Given the description of an element on the screen output the (x, y) to click on. 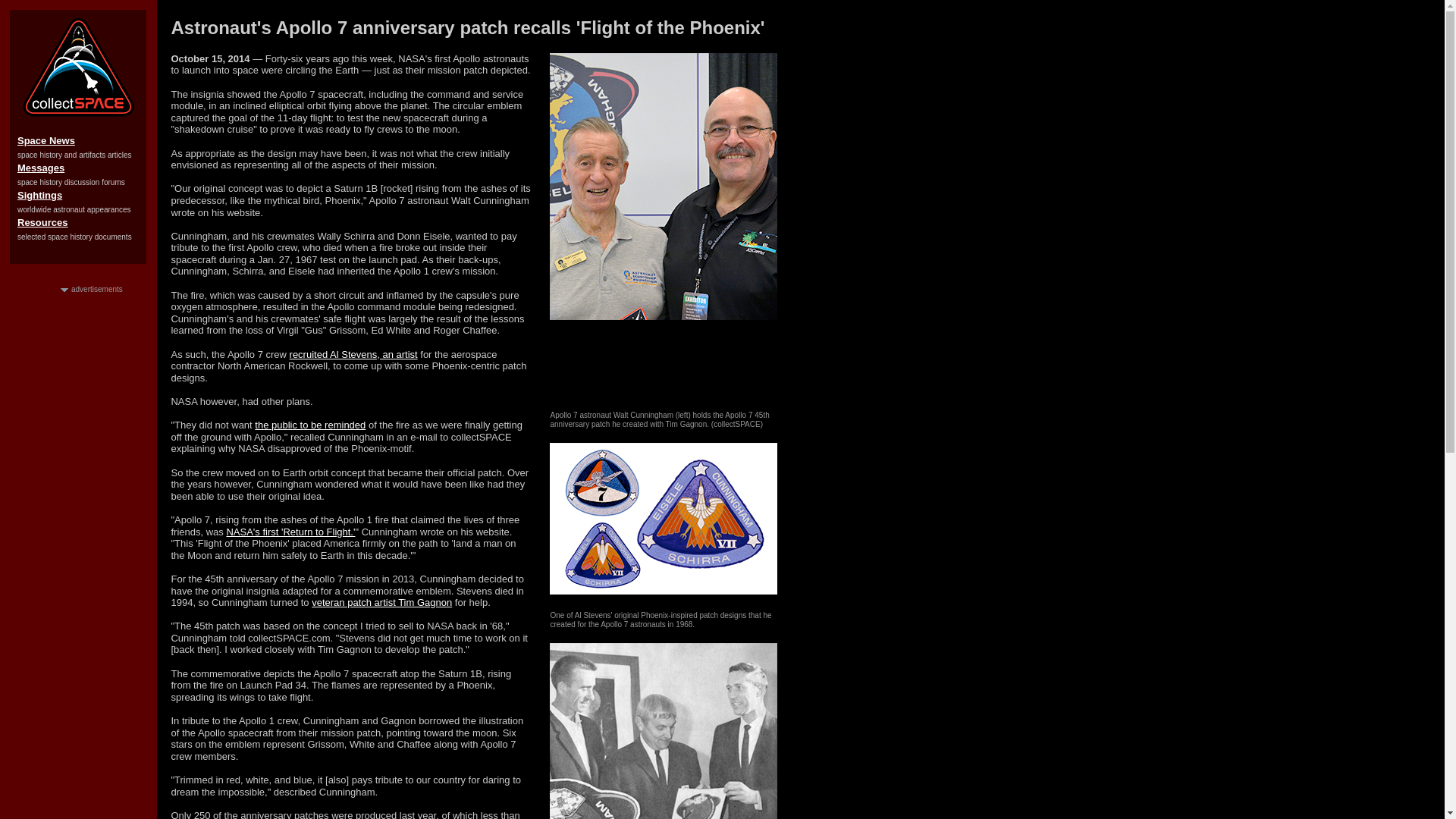
veteran patch artist Tim Gagnon (381, 602)
Resources (41, 222)
Space News (46, 140)
Messages (40, 167)
Advertisement (77, 785)
recruited Al Stevens, an artist (353, 354)
Sightings (39, 194)
NASA's first 'Return to Flight.' (290, 531)
the public to be reminded (309, 424)
